Given the description of an element on the screen output the (x, y) to click on. 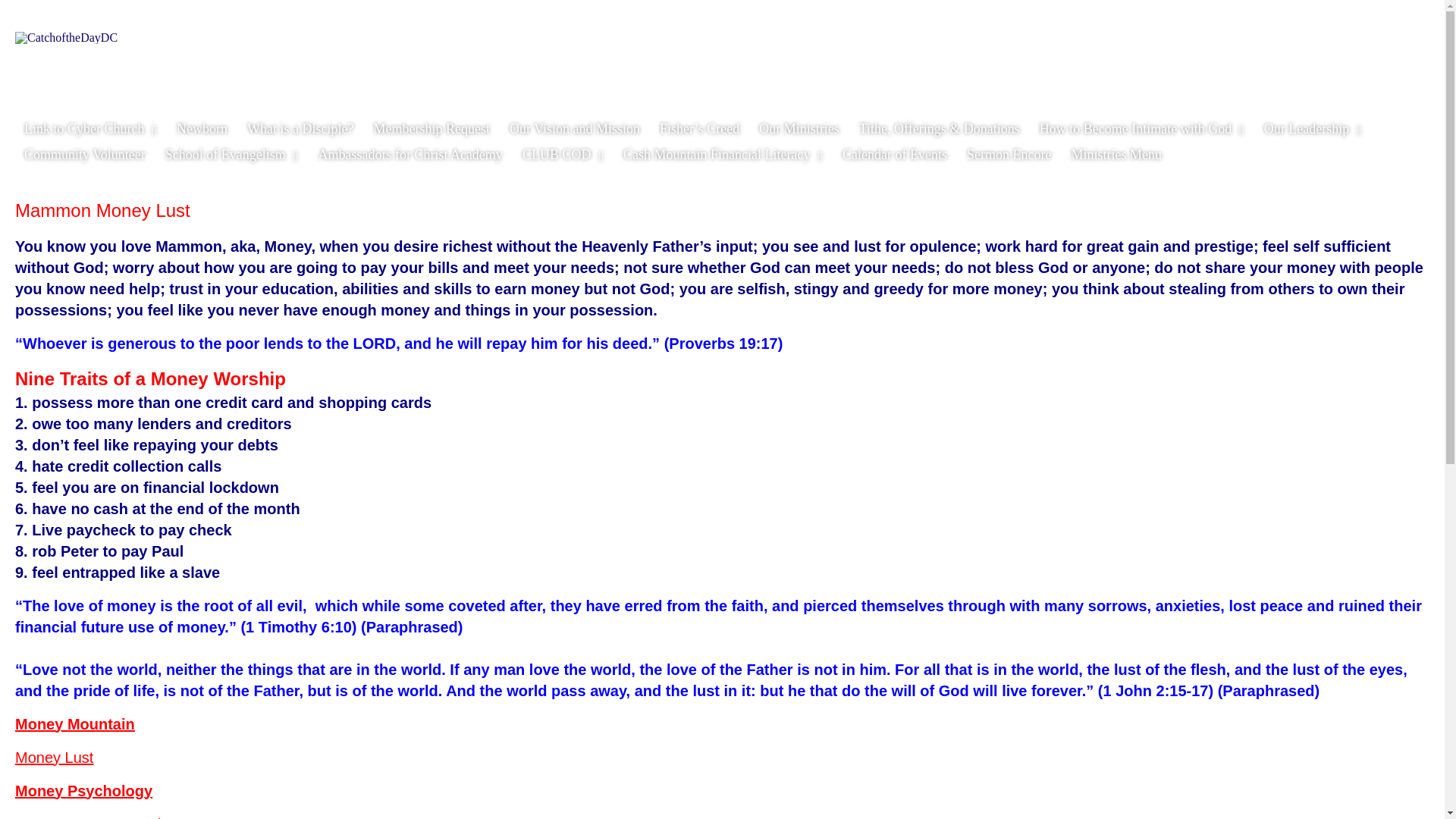
Newborn (201, 128)
Community Volunteer (84, 154)
What is a Disciple? (300, 128)
CatchoftheDayDC (218, 57)
Cash Mountain (722, 154)
CatchoftheDayDC (65, 37)
Link to Cyber Church (89, 128)
CatchoftheDayDC (218, 57)
Our Leadership (1313, 128)
Skip to content (55, 125)
